Given the description of an element on the screen output the (x, y) to click on. 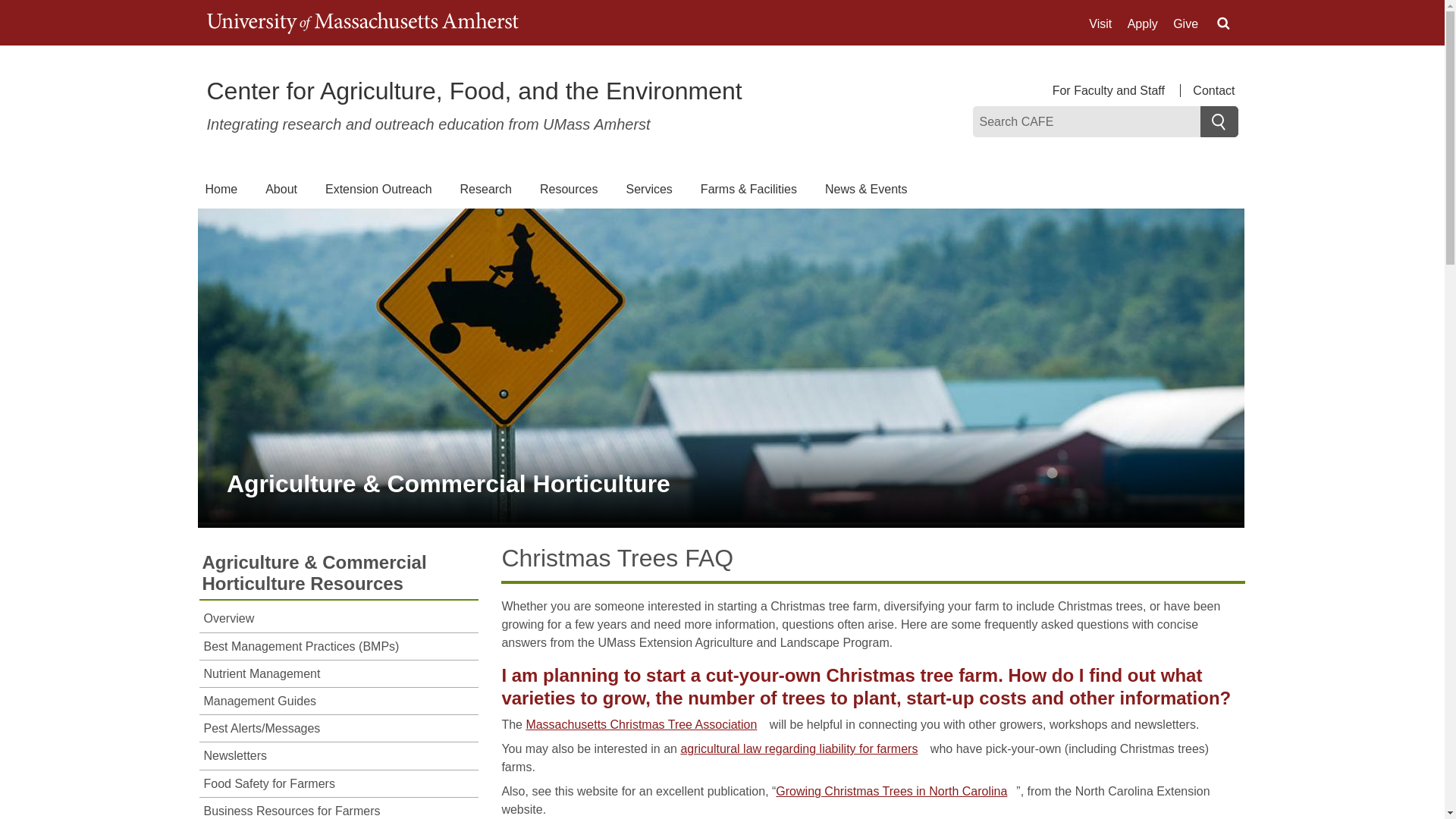
Apply (1141, 24)
Search (1218, 121)
Search UMass.edu (1221, 23)
Center for Agriculture, Food, and the Environment (473, 90)
Visit (1100, 24)
For Faculty and Staff (1116, 90)
Search (1218, 121)
Contact Information (1208, 90)
Give (1185, 24)
Home (473, 90)
The University of Massachusetts Amherst (362, 22)
UMass Amherst (362, 22)
Contact (1208, 90)
